Given the description of an element on the screen output the (x, y) to click on. 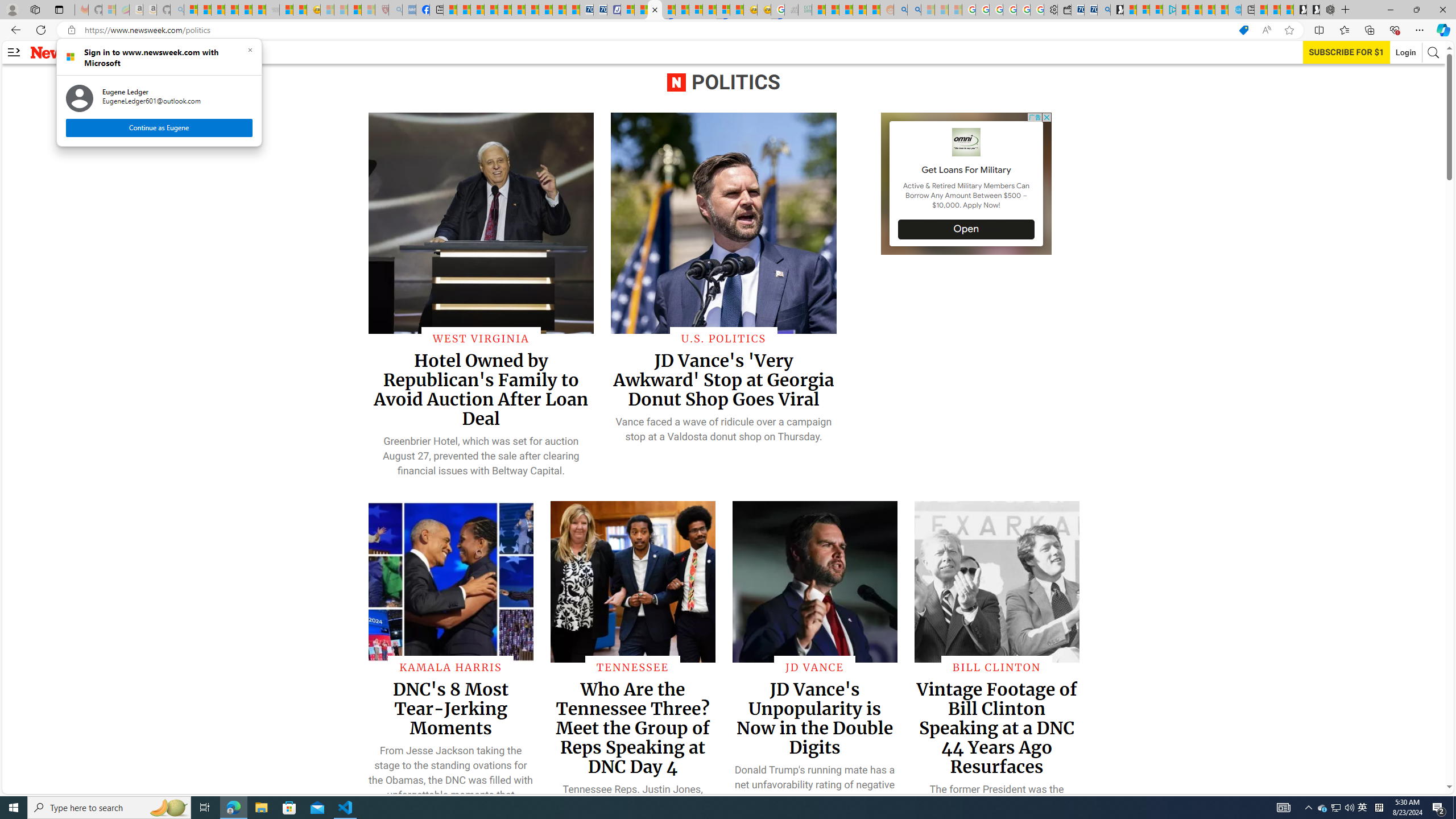
Utah sues federal government - Search (914, 9)
Search highlights icon opens search home window (167, 807)
Q2790: 100% (1349, 807)
Climate Damage Becomes Too Severe To Reverse (490, 9)
User Promoted Notification Area (1336, 807)
